Given the description of an element on the screen output the (x, y) to click on. 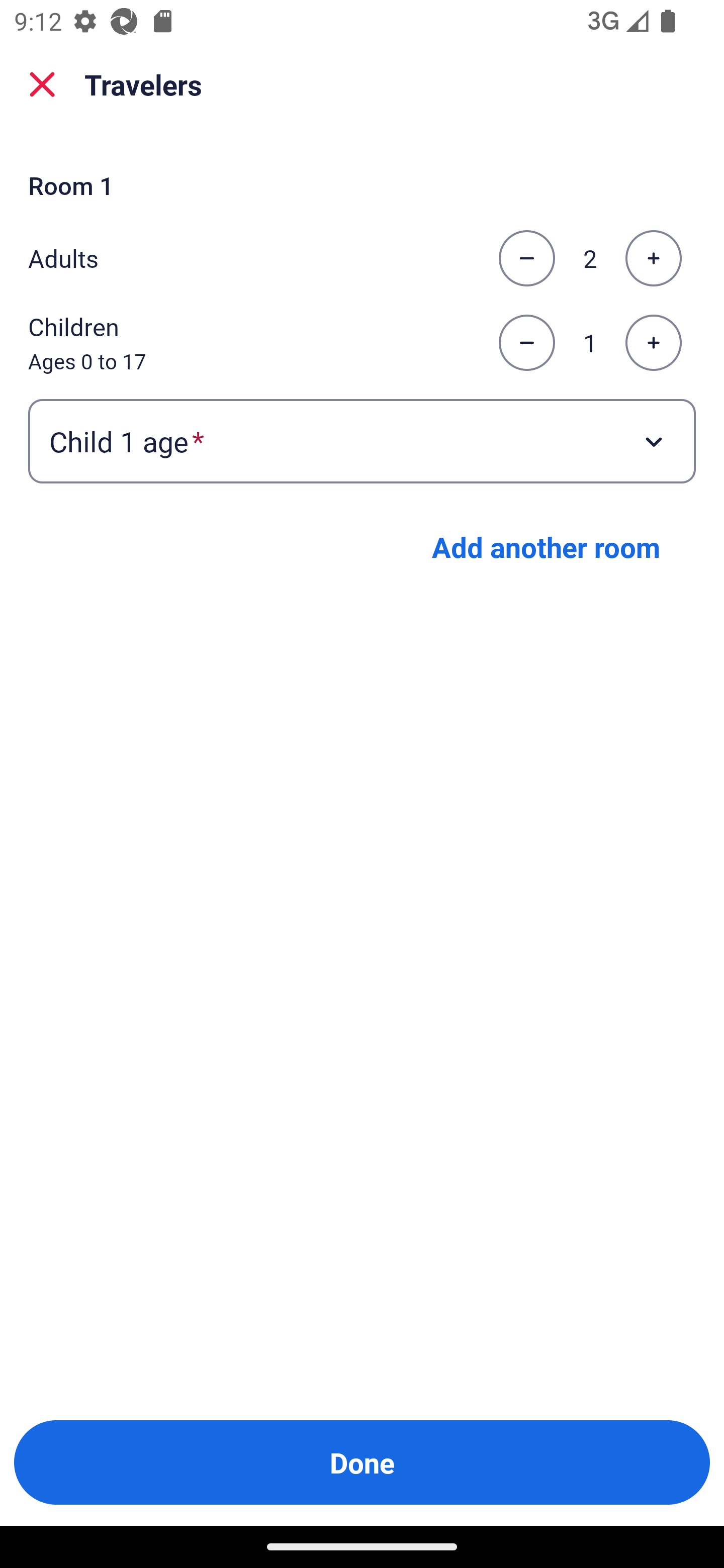
close (42, 84)
Decrease the number of adults (526, 258)
Increase the number of adults (653, 258)
Decrease the number of children (526, 343)
Increase the number of children (653, 343)
Child 1 age required Button (361, 440)
Add another room (545, 546)
Done (361, 1462)
